Given the description of an element on the screen output the (x, y) to click on. 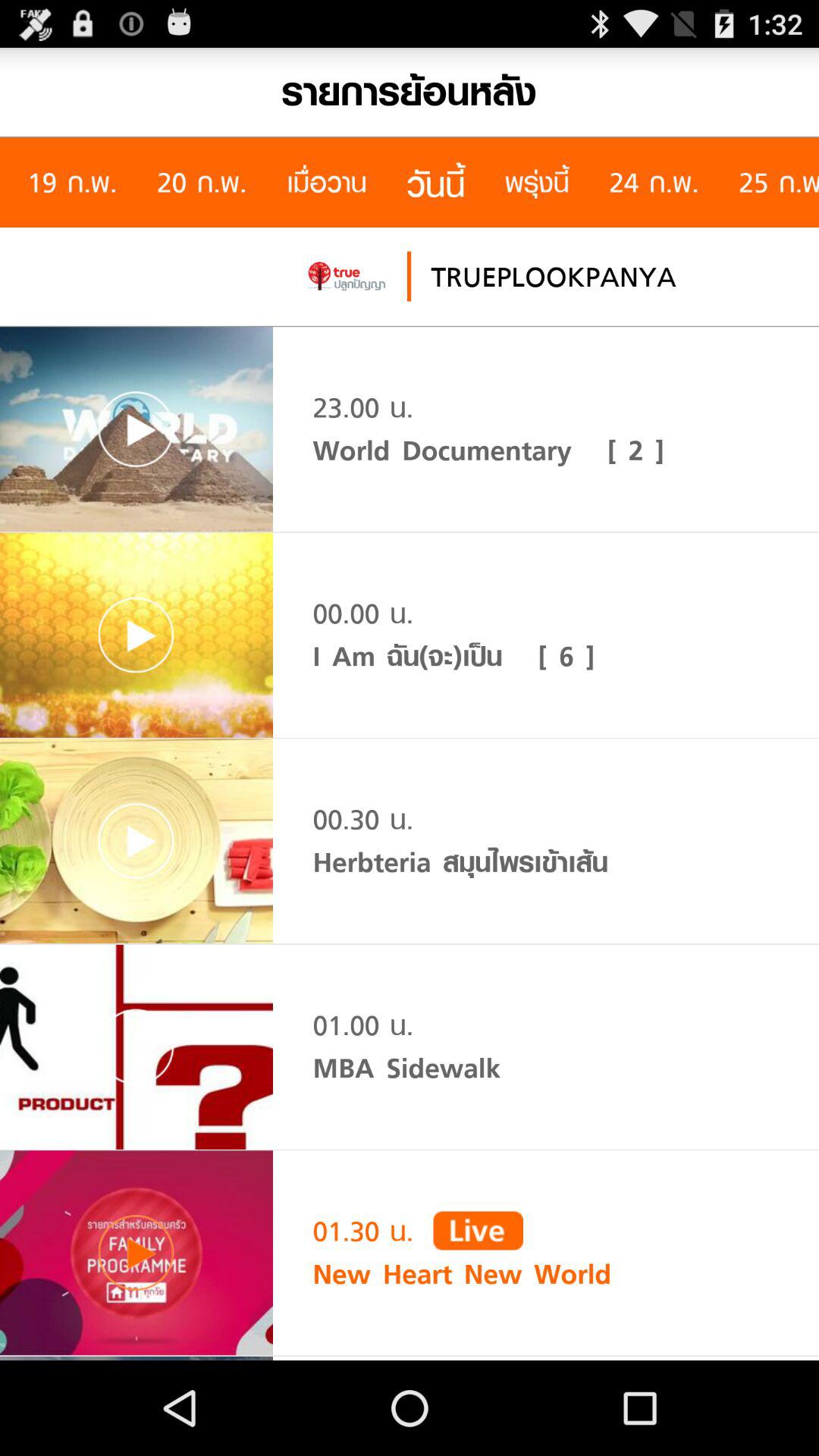
turn off icon above the new heart new item (478, 1230)
